Given the description of an element on the screen output the (x, y) to click on. 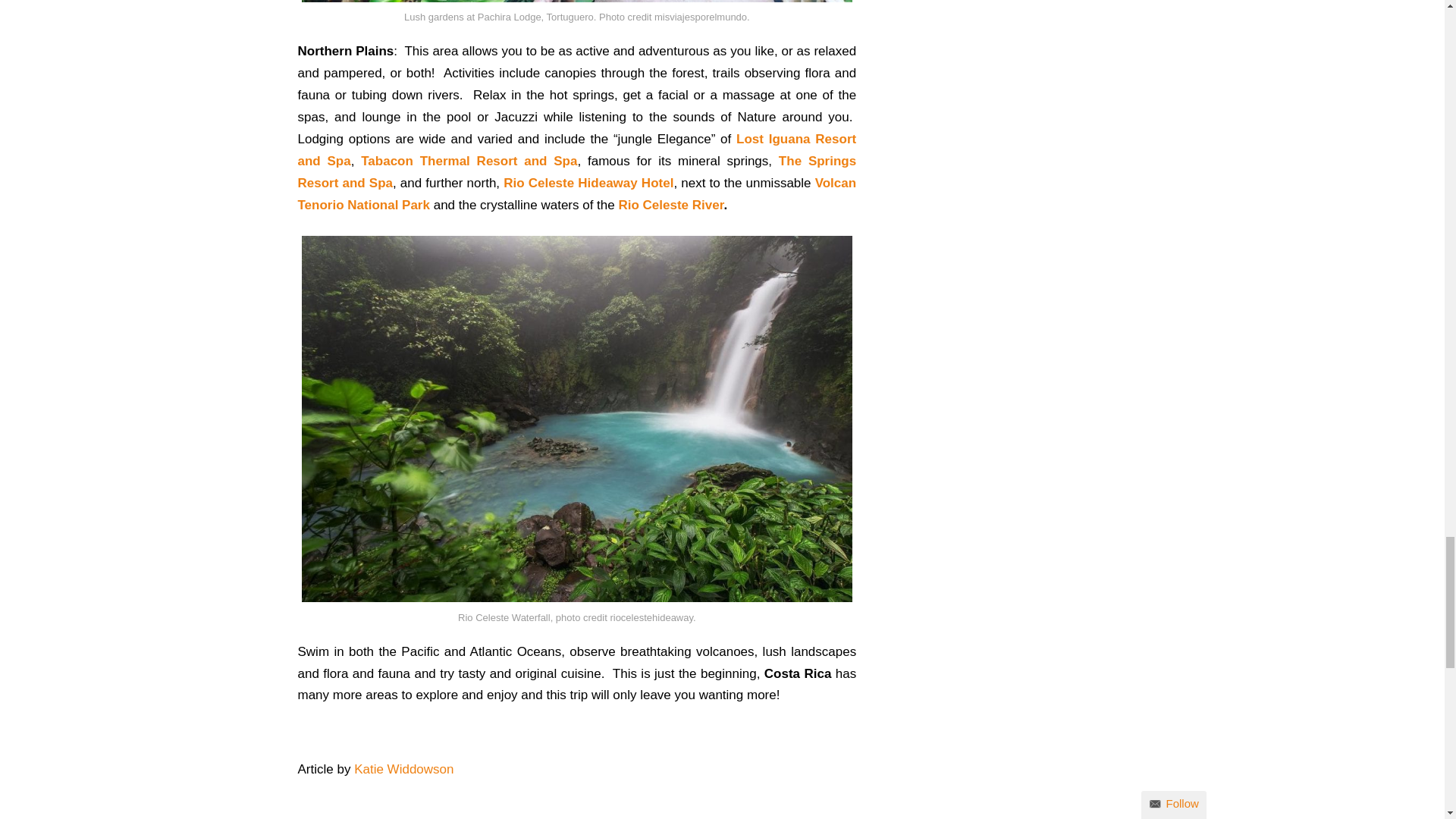
Tabacon Thermal Resort and Spa (468, 160)
Rio Celeste River (670, 205)
Lost Iguana Resort and Spa (576, 149)
Rio Celeste Hideaway Hotel (587, 183)
Katie Widdowson (402, 769)
The Springs Resort and Spa (576, 171)
Volcan Tenorio National Park (576, 194)
